Given the description of an element on the screen output the (x, y) to click on. 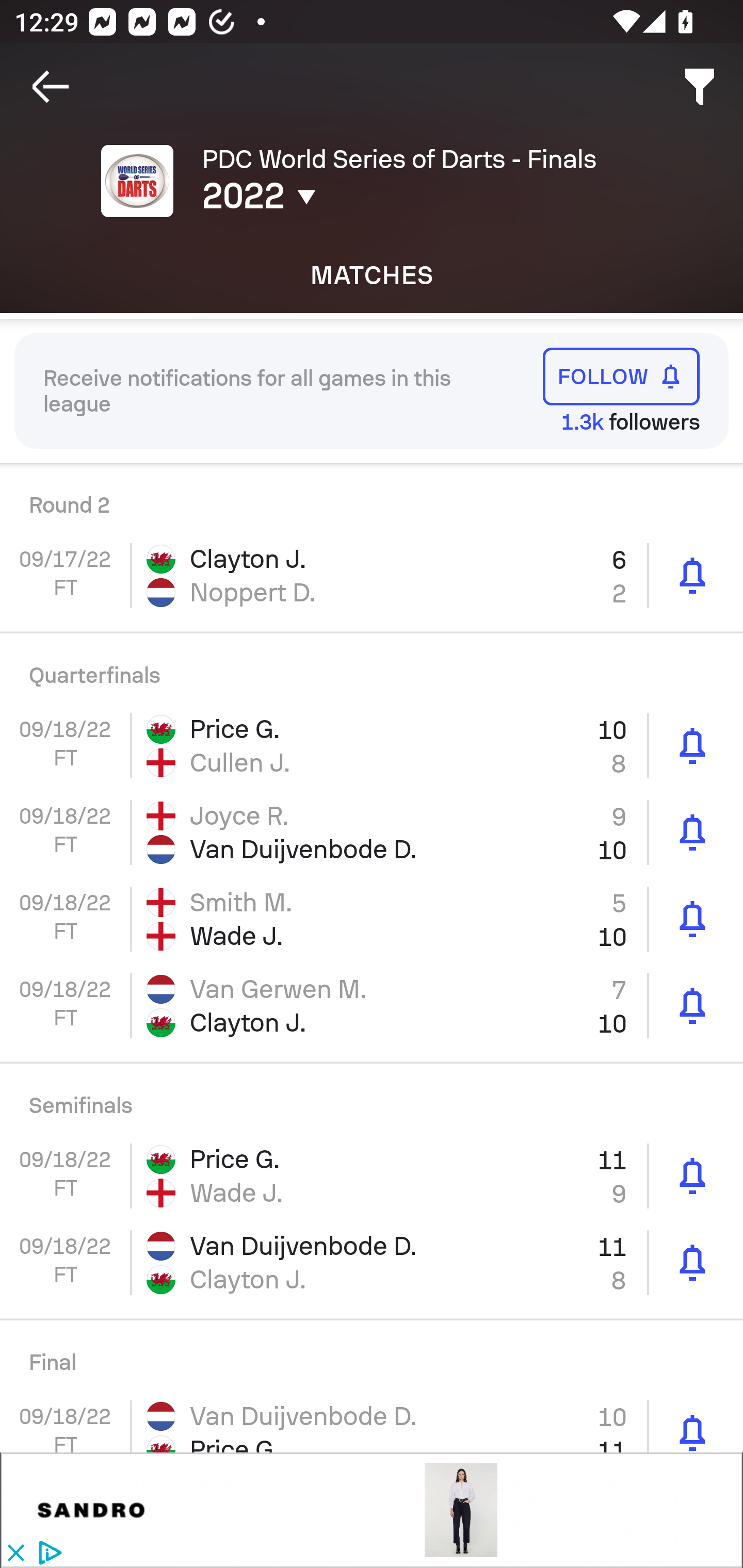
Navigate up (50, 86)
Find (699, 86)
2022 (350, 195)
FOLLOW (621, 377)
09/17/22 FT Smith M. 6 Wright P. 4 (371, 496)
09/17/22 FT Clayton J. 6 Noppert D. 2 (371, 575)
Quarterfinals (371, 667)
09/18/22 FT Price G. 10 Cullen J. 8 (371, 745)
09/18/22 FT Joyce R. 10 9 Van Duijvenbode D. (371, 832)
09/18/22 FT Smith M. 10 5 Wade J. (371, 919)
09/18/22 FT Van Gerwen M. 10 7 Clayton J. (371, 1005)
Semifinals (371, 1097)
09/18/22 FT Price G. 11 Wade J. 9 (371, 1175)
09/18/22 FT Van Duijvenbode D. 11 Clayton J. 8 (371, 1262)
Final (371, 1354)
09/18/22 FT Van Duijvenbode D. 10 Price G. 11 (371, 1420)
   (91, 1509)
   (461, 1510)
close_button (14, 1553)
privacy_small (47, 1553)
